Given the description of an element on the screen output the (x, y) to click on. 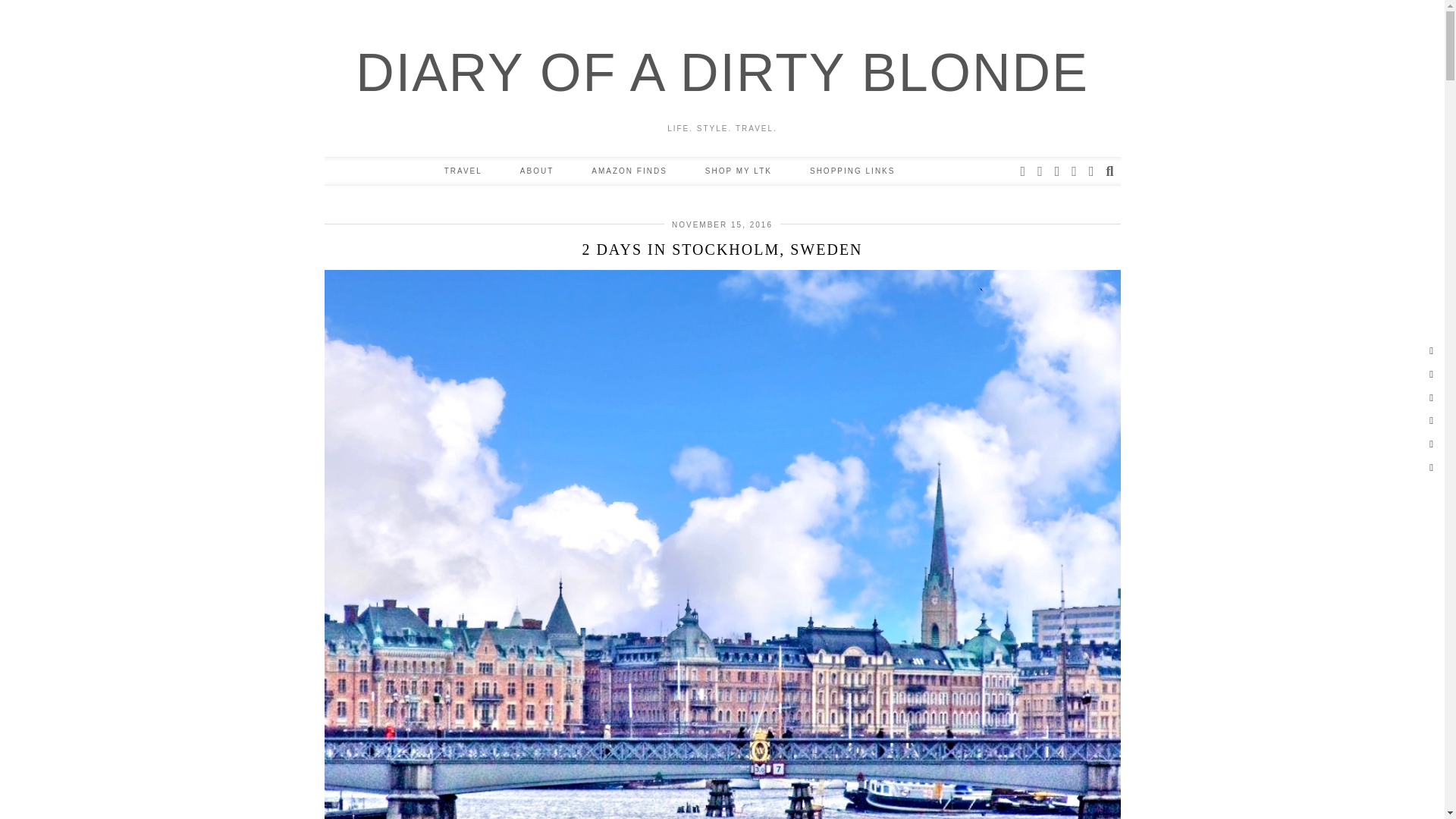
Diary of a Dirty Blonde (722, 72)
